Given the description of an element on the screen output the (x, y) to click on. 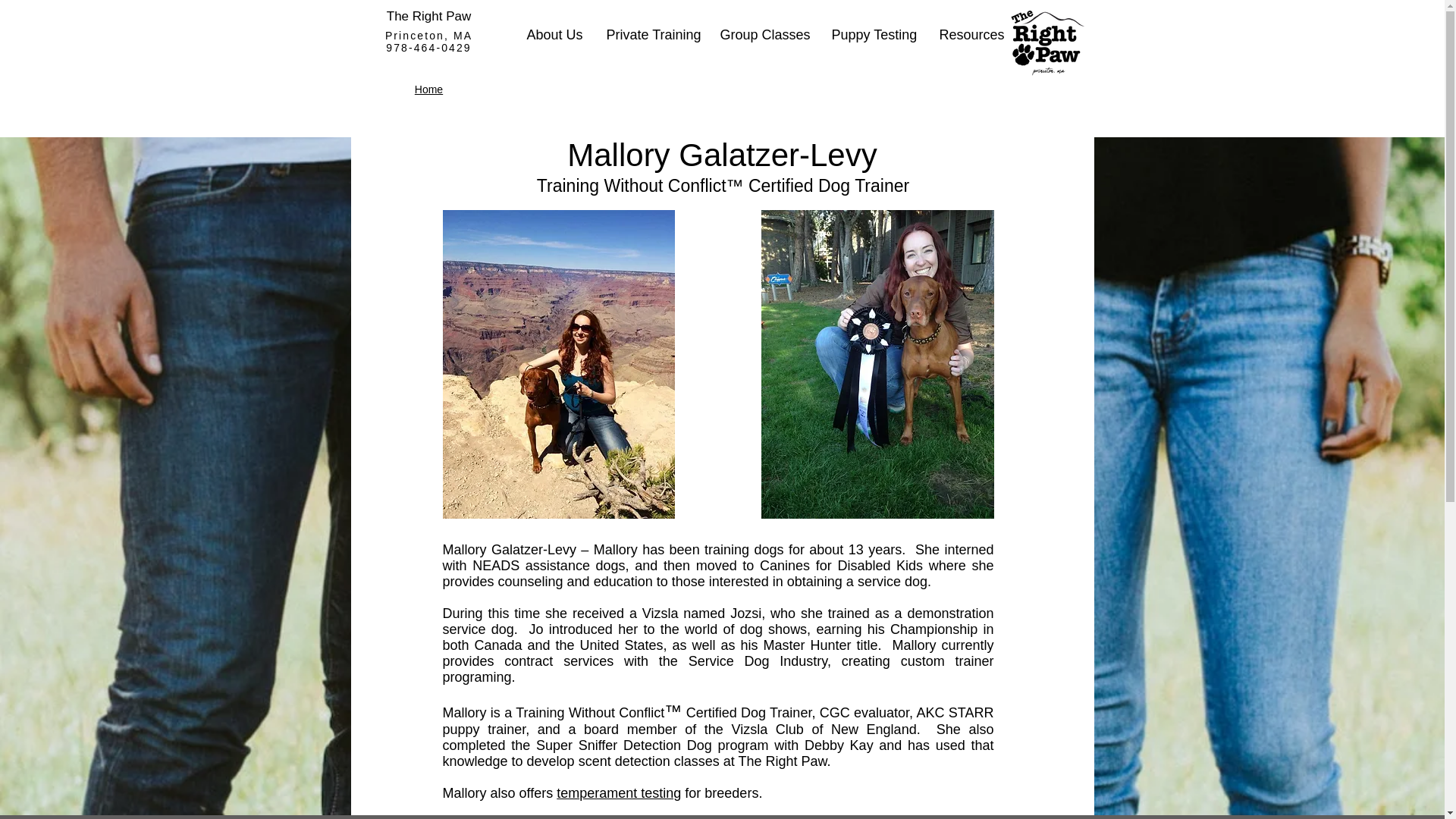
Home (428, 89)
temperament testing (618, 792)
The Right Paw (429, 16)
Princeton, MA (428, 35)
